Given the description of an element on the screen output the (x, y) to click on. 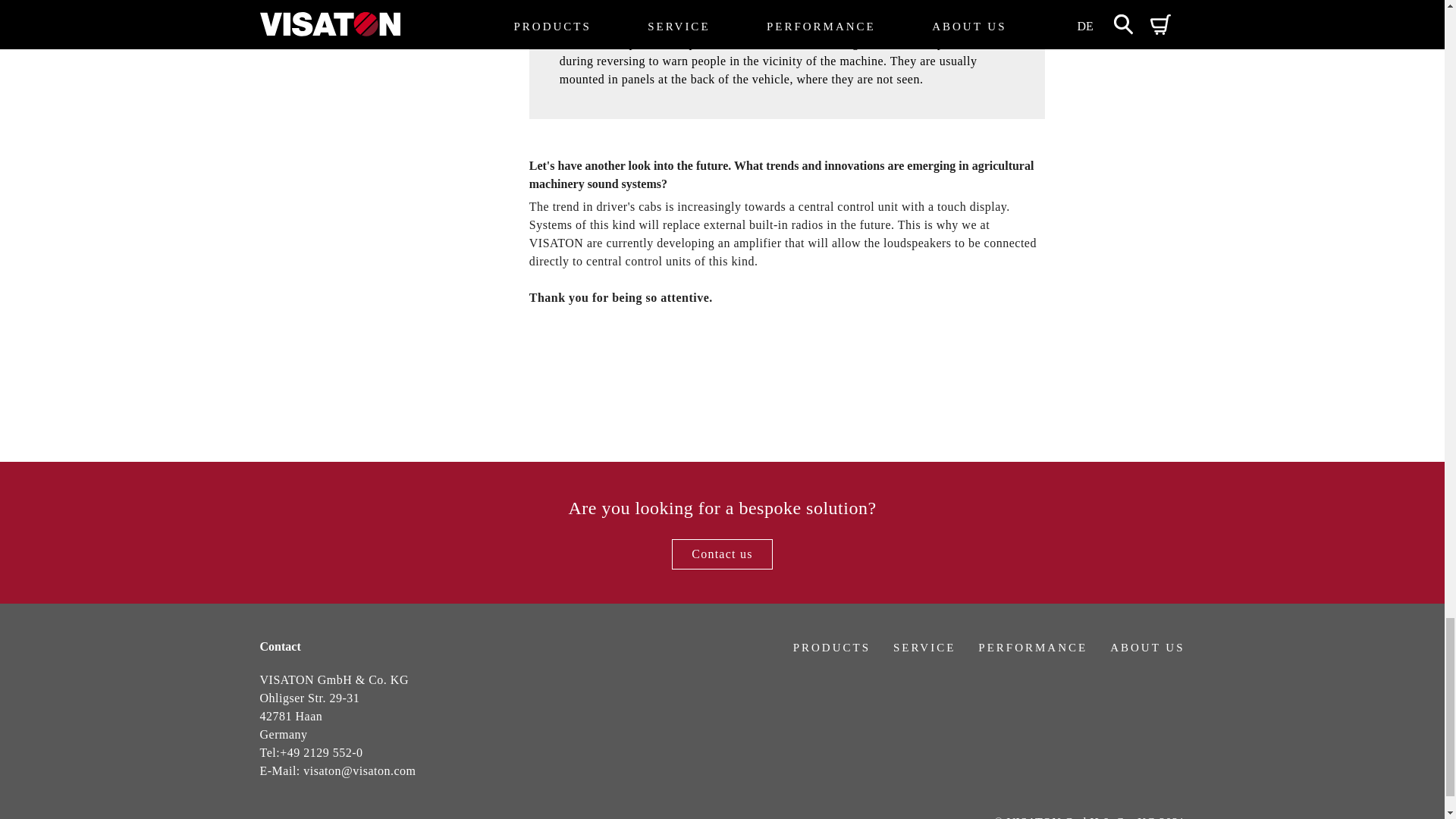
Contact us (722, 553)
SERVICE (924, 647)
PERFORMANCE (1032, 647)
ABOUT US (1147, 647)
PRODUCTS (831, 647)
